Given the description of an element on the screen output the (x, y) to click on. 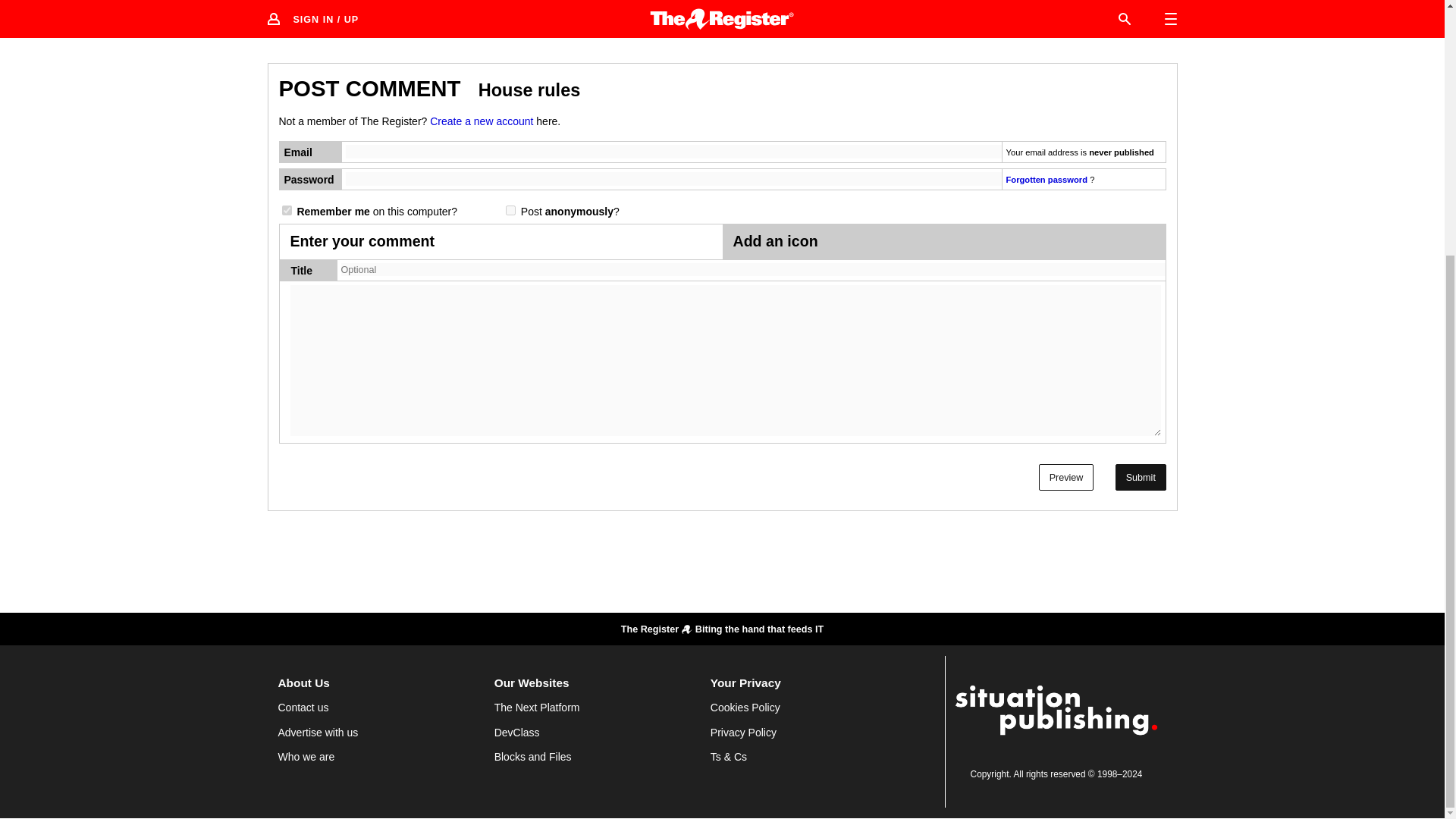
Submit (1140, 477)
Preview (1066, 477)
1 (287, 210)
1 (510, 210)
